Given the description of an element on the screen output the (x, y) to click on. 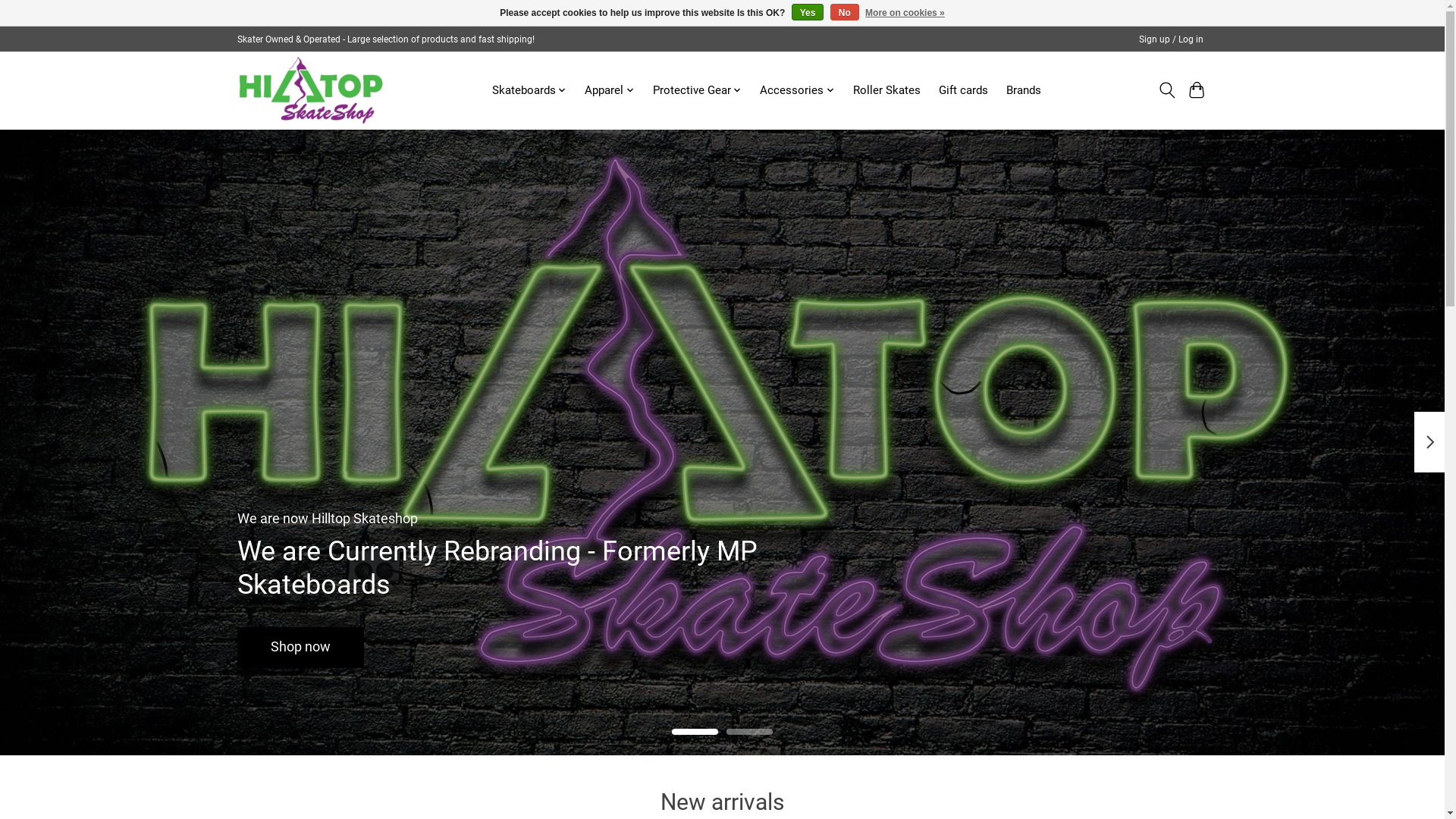
Accessories Element type: text (797, 89)
Gift cards Element type: text (963, 89)
Sign up / Log in Element type: text (1170, 39)
Brands Element type: text (1023, 89)
No Element type: text (844, 11)
Skateboards Element type: text (529, 89)
Protective Gear Element type: text (697, 89)
Yes Element type: text (807, 11)
Shop now Element type: text (299, 646)
Hilltop Skateshop Element type: hover (309, 89)
Apparel Element type: text (609, 89)
Roller Skates Element type: text (886, 89)
